Given the description of an element on the screen output the (x, y) to click on. 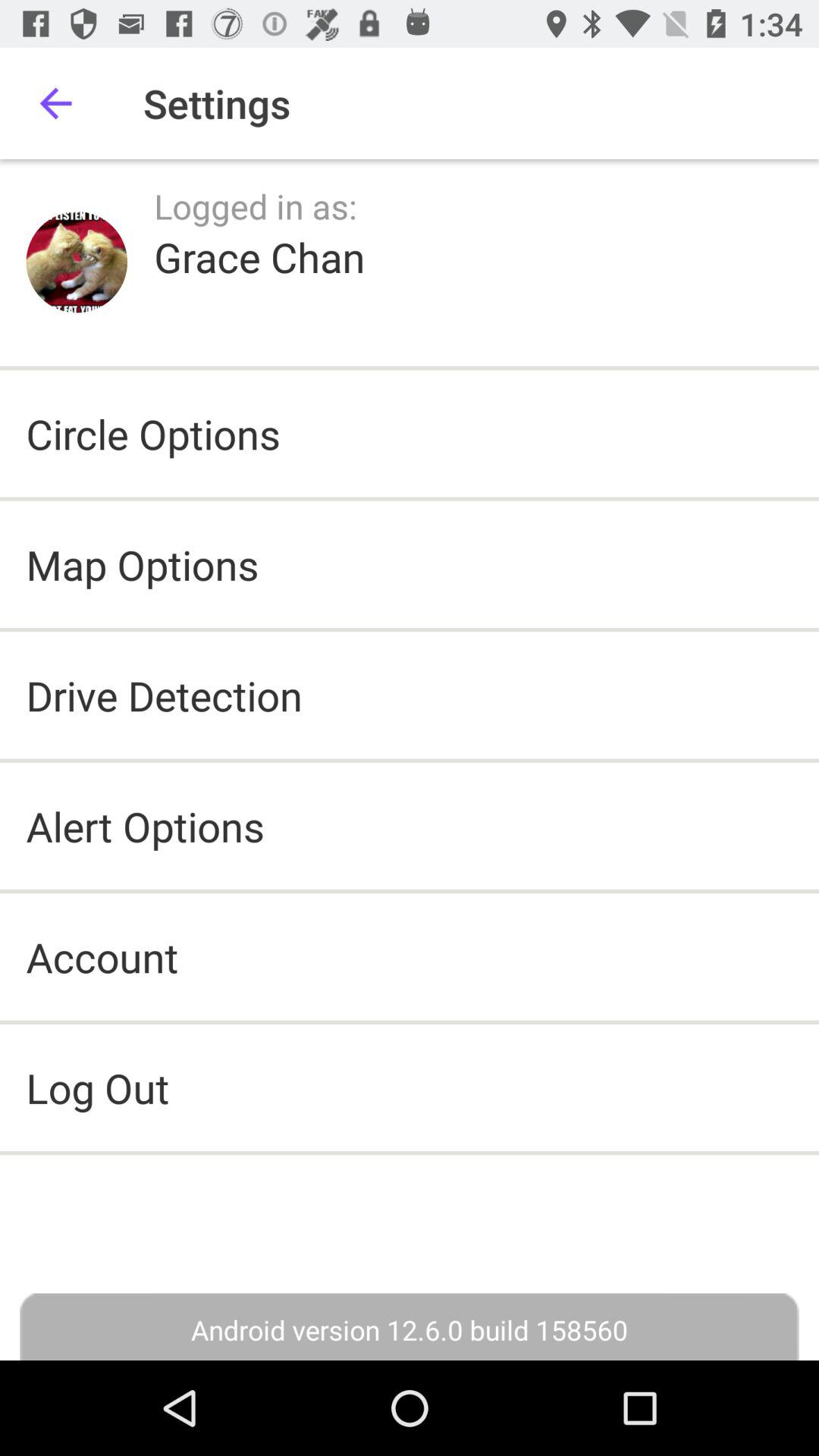
turn on the drive detection item (164, 694)
